Given the description of an element on the screen output the (x, y) to click on. 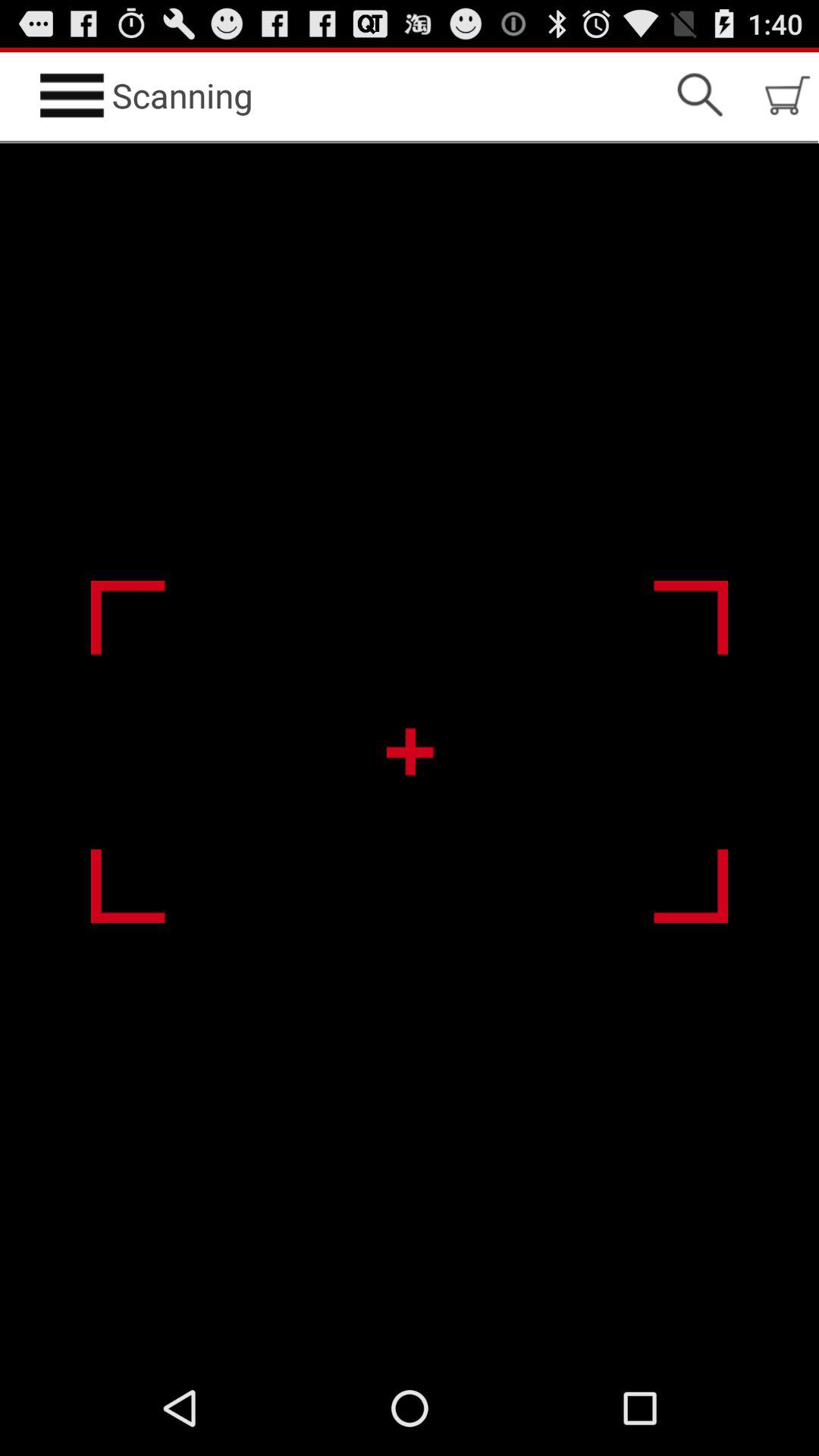
launch item next to the scanning item (699, 95)
